Given the description of an element on the screen output the (x, y) to click on. 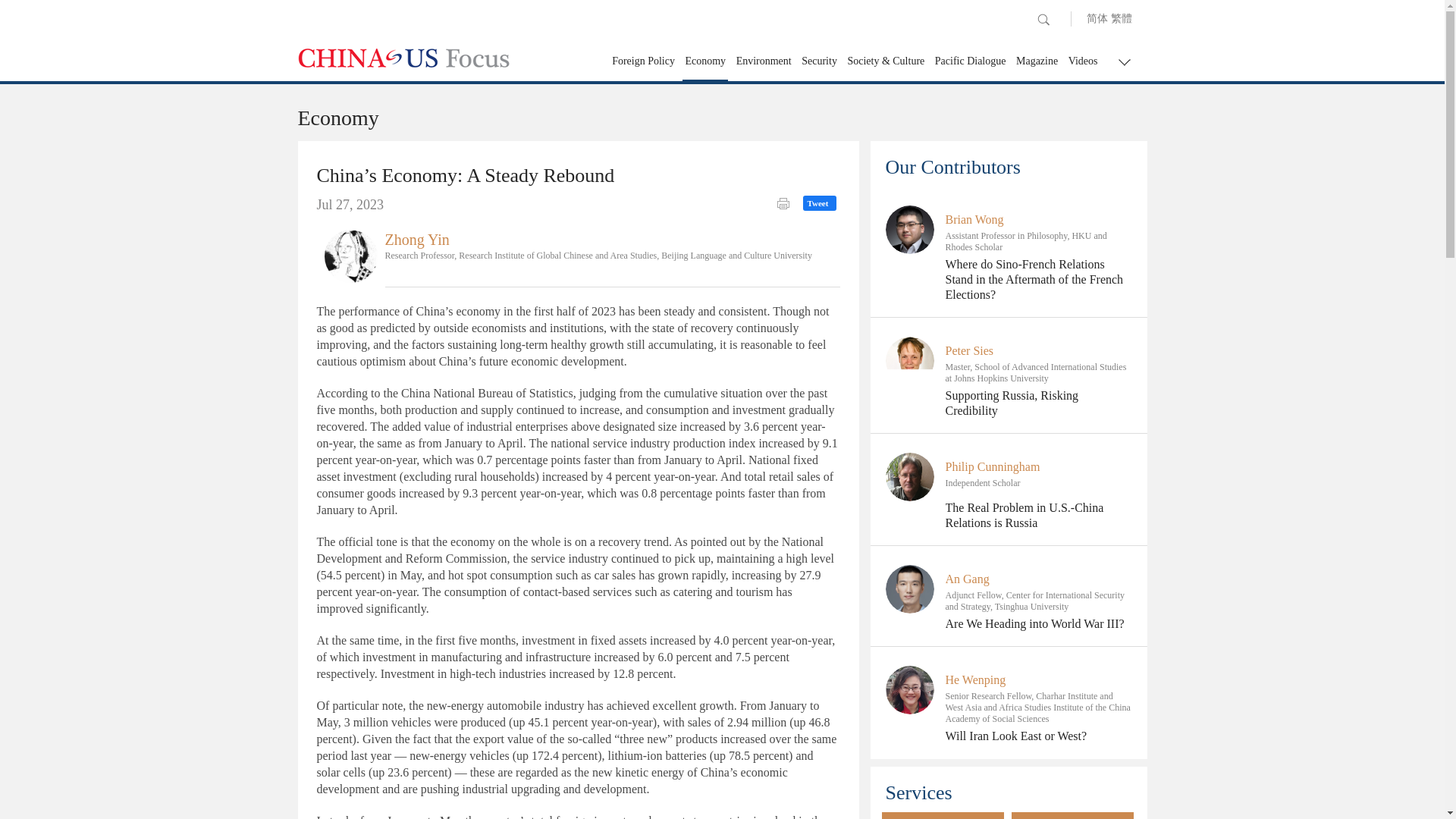
Zhong Yin (417, 239)
CHINA US Focus (403, 58)
Zhong Yin (350, 255)
Search (1043, 19)
